Given the description of an element on the screen output the (x, y) to click on. 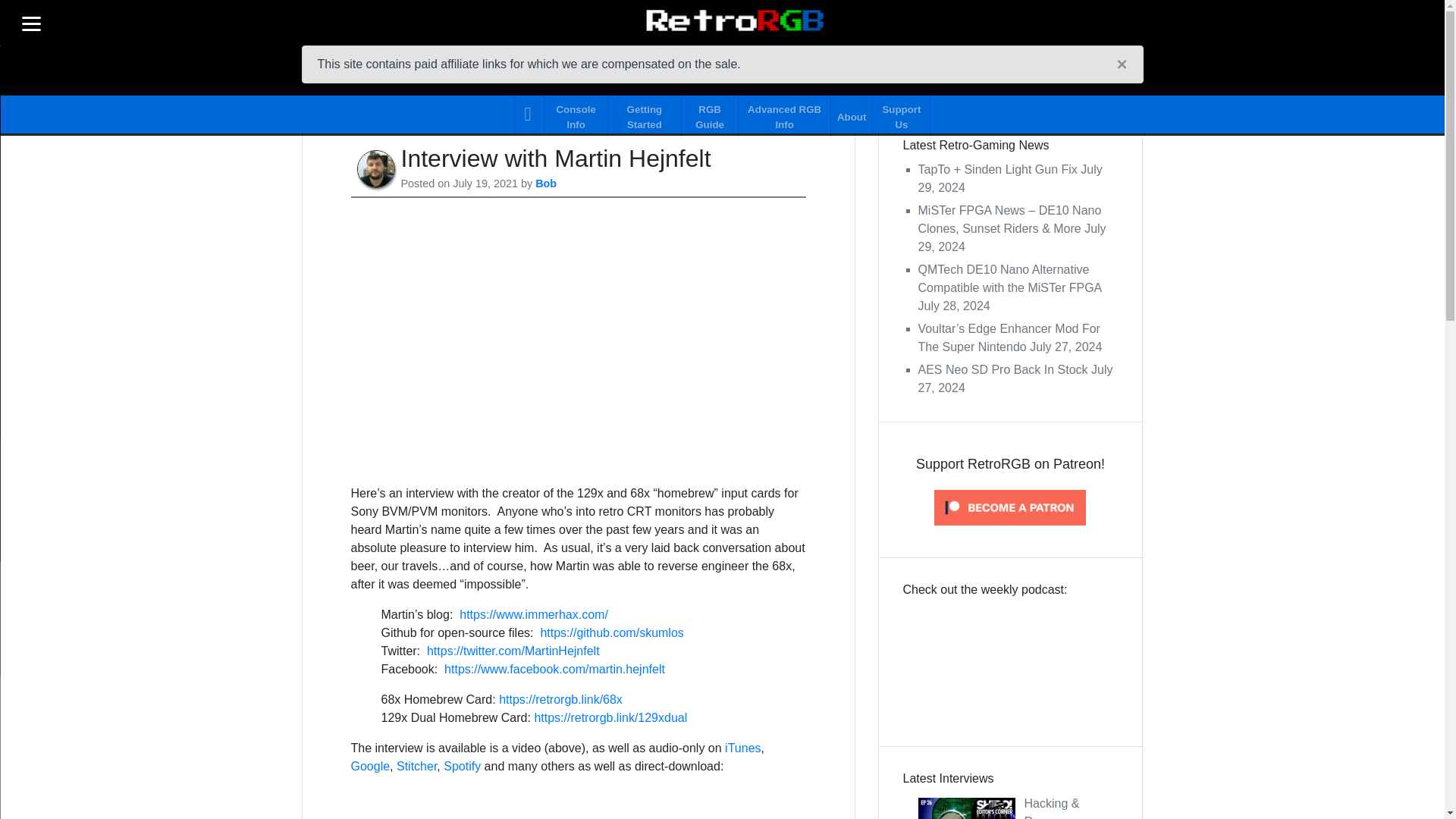
iTunes (742, 748)
RGB Guide (709, 114)
Google (370, 766)
About (851, 114)
Console Info (575, 114)
Bob (545, 183)
AES Neo SD Pro Back In Stock (1002, 369)
Advanced RGB Info (783, 114)
QMTech DE10 Nano Alternative Compatible with the MiSTer FPGA (1008, 278)
Support Us (901, 114)
RetroRGB Weekly Roundup (1010, 659)
Spotify (462, 766)
Stitcher (416, 766)
Getting Started (644, 114)
July 19, 2021 (485, 183)
